Given the description of an element on the screen output the (x, y) to click on. 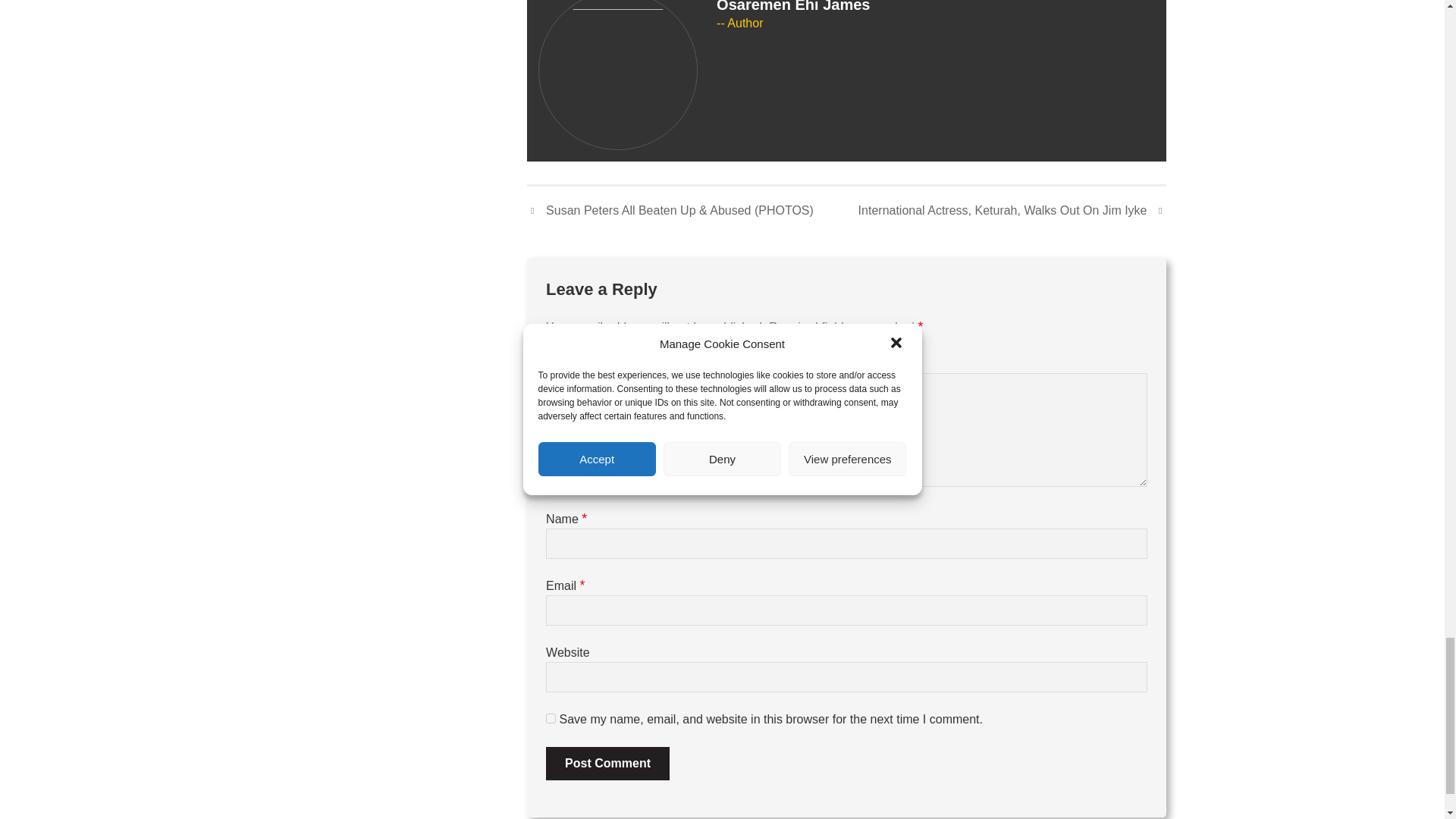
yes (551, 718)
Post Comment (607, 763)
Posts by Osaremen Ehi James (792, 6)
